Given the description of an element on the screen output the (x, y) to click on. 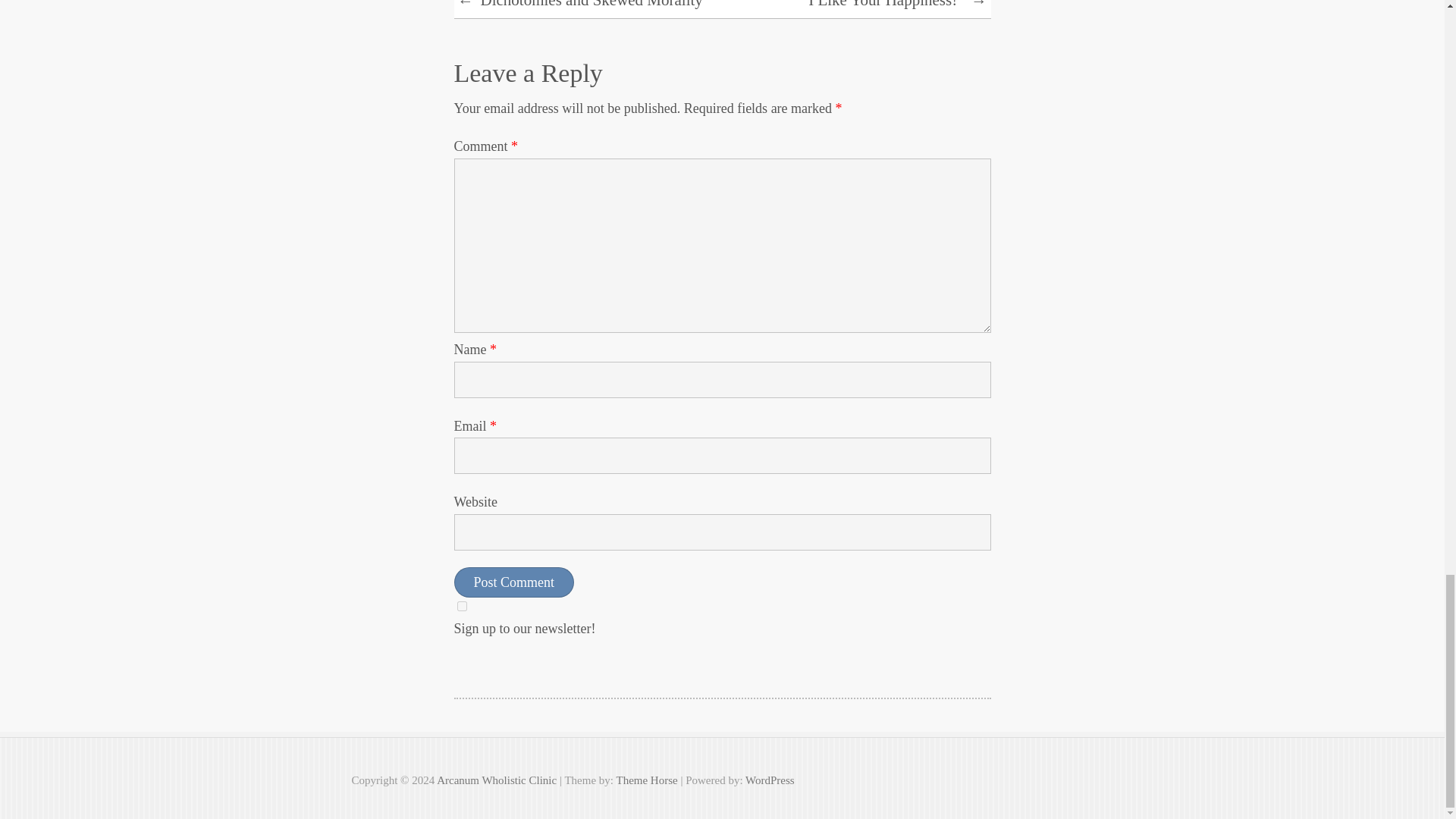
WordPress (769, 779)
1 (461, 605)
Post Comment (512, 582)
Arcanum Wholistic Clinic (496, 779)
Theme Horse (646, 779)
